Given the description of an element on the screen output the (x, y) to click on. 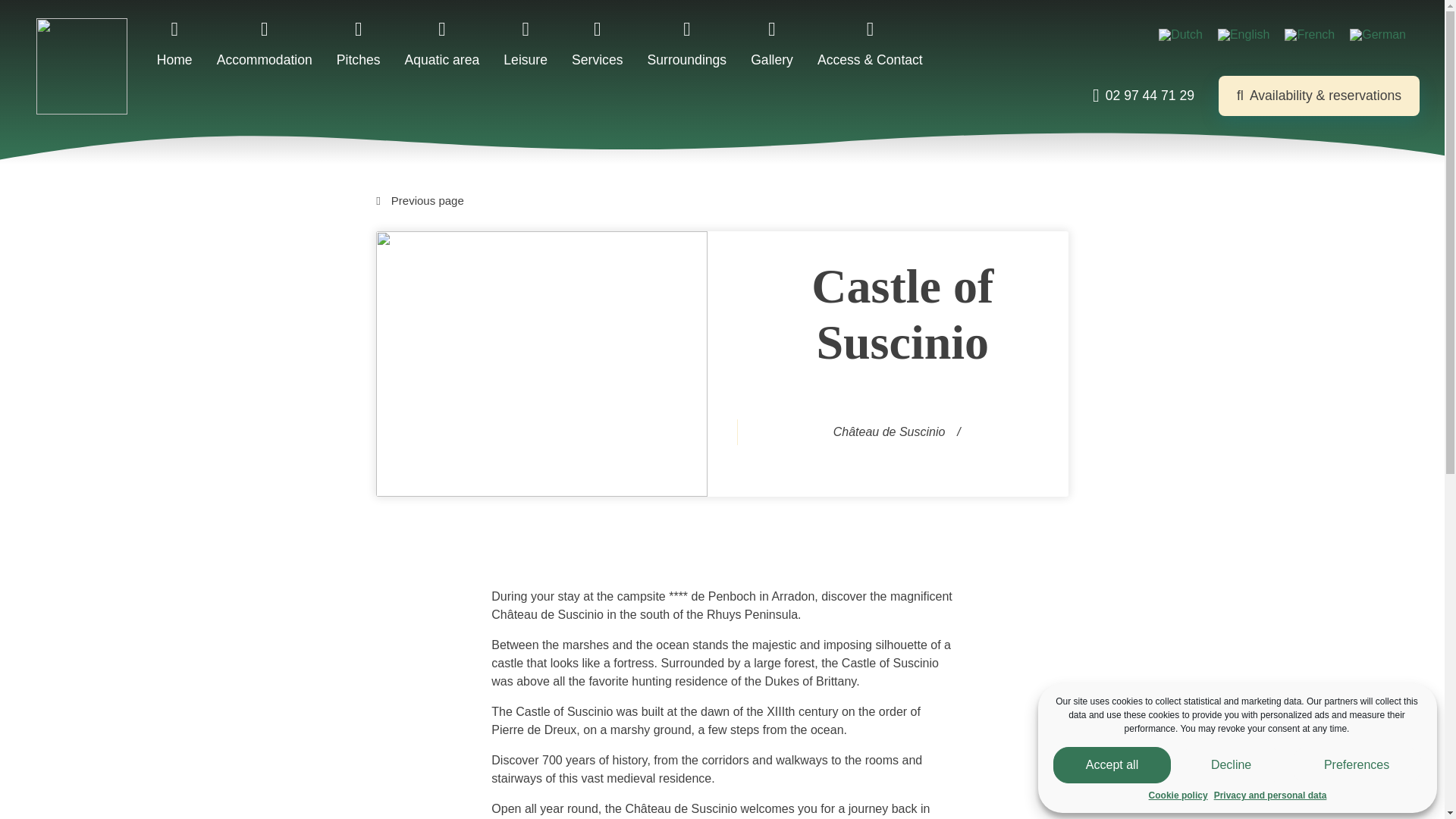
Privacy and personal data (1270, 814)
Cookie policy (1178, 818)
Previous page (721, 200)
Aquatic area (442, 42)
02 97 44 71 29 (1143, 95)
Services (597, 42)
Surroundings (686, 42)
Accommodation (264, 42)
